Given the description of an element on the screen output the (x, y) to click on. 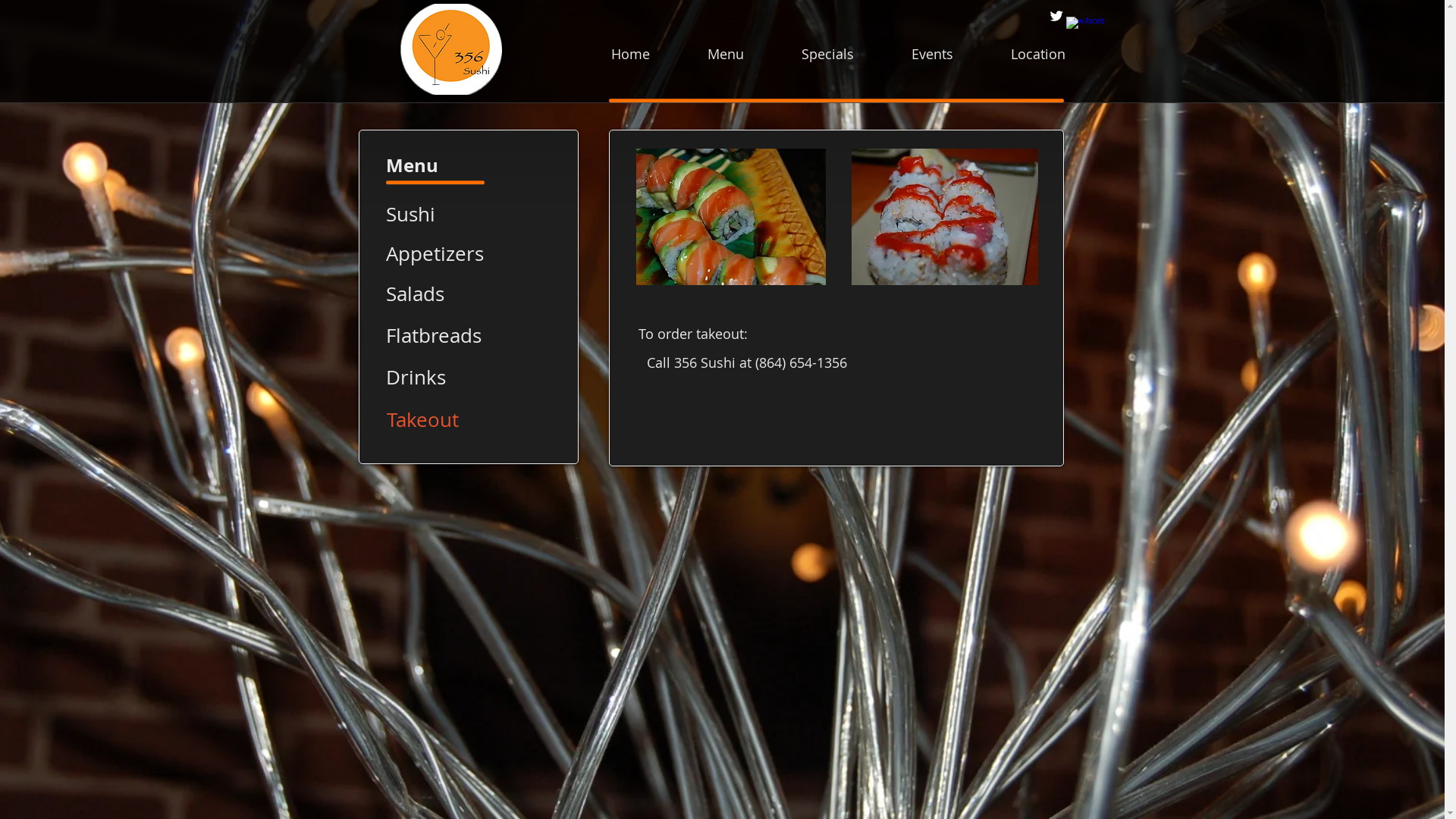
Specials Element type: text (827, 53)
Events Element type: text (931, 53)
Flatbreads Element type: text (441, 335)
Salads Element type: text (441, 293)
Sushi Element type: text (441, 214)
DSC_0348.JPG Element type: hover (730, 216)
DSC_0536.JPG Element type: hover (943, 216)
356-logo.png Element type: hover (451, 48)
Appetizers Element type: text (441, 253)
Takeout Element type: text (442, 419)
Drinks Element type: text (441, 377)
Menu Element type: text (725, 53)
Home Element type: text (629, 53)
Location Element type: text (1037, 53)
